Given the description of an element on the screen output the (x, y) to click on. 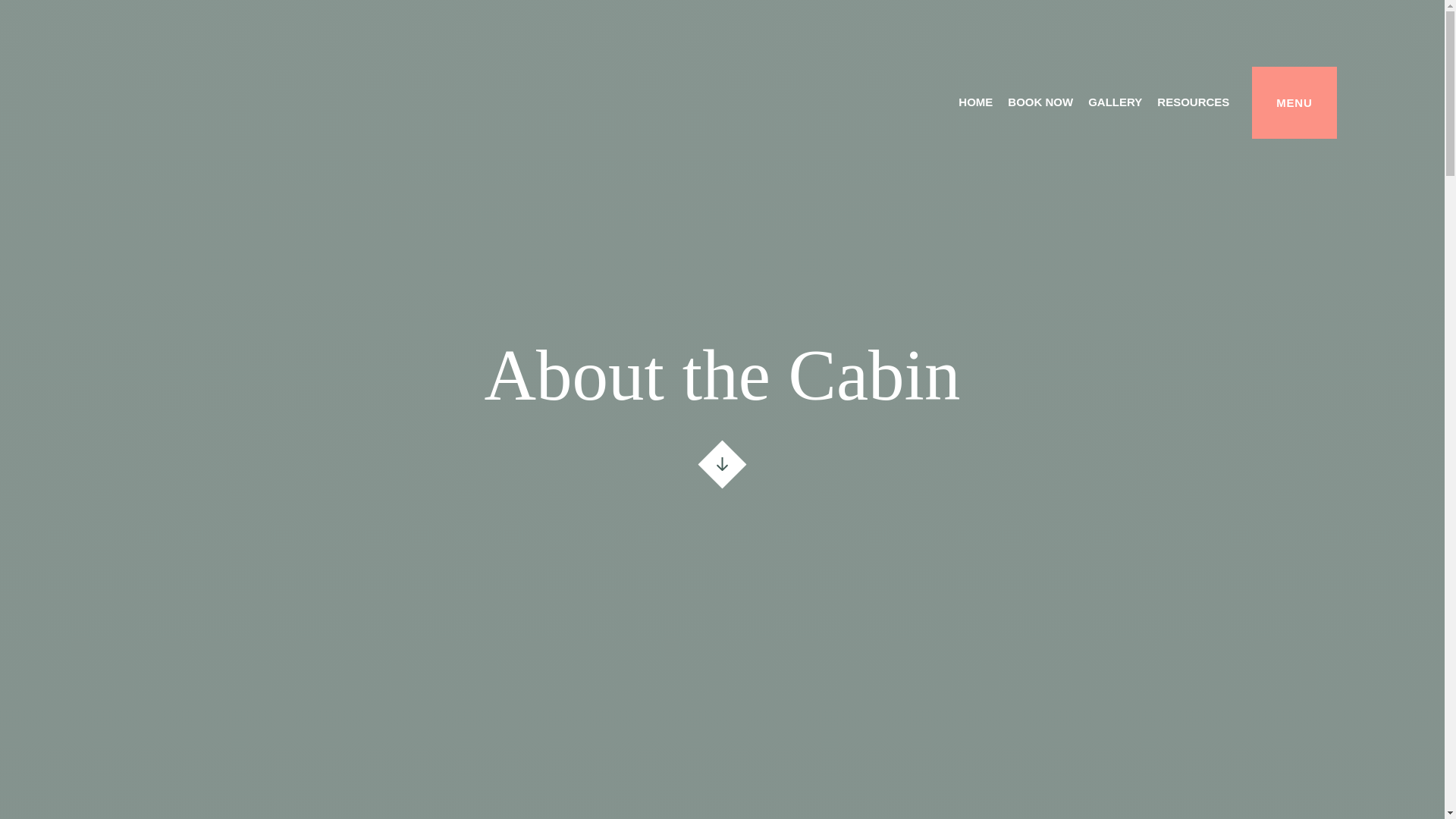
BOOK NOW (1040, 102)
GALLERY (1115, 102)
HOME (975, 102)
Search (342, 311)
MENU (1294, 102)
RESOURCES (1193, 102)
SMOKY MOUNTAINS LODGE (413, 116)
